Given the description of an element on the screen output the (x, y) to click on. 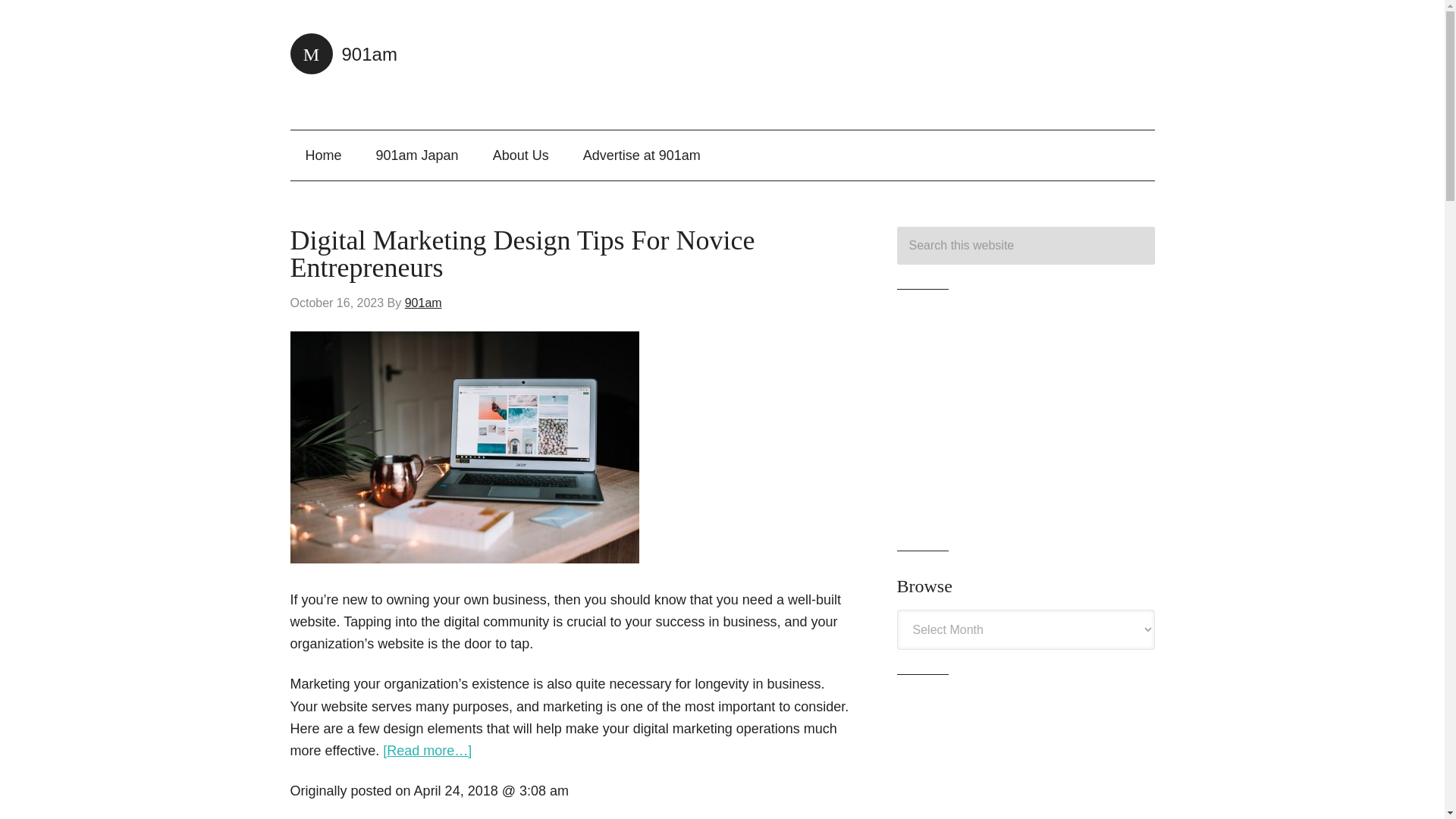
Digital Marketing Design Tips For Novice Entrepreneurs (521, 253)
Advertisement (911, 64)
About Us (520, 155)
901am Japan (417, 155)
Advertisement (1025, 419)
Advertise at 901am (641, 155)
Advertisement (1025, 759)
901am (342, 54)
